Given the description of an element on the screen output the (x, y) to click on. 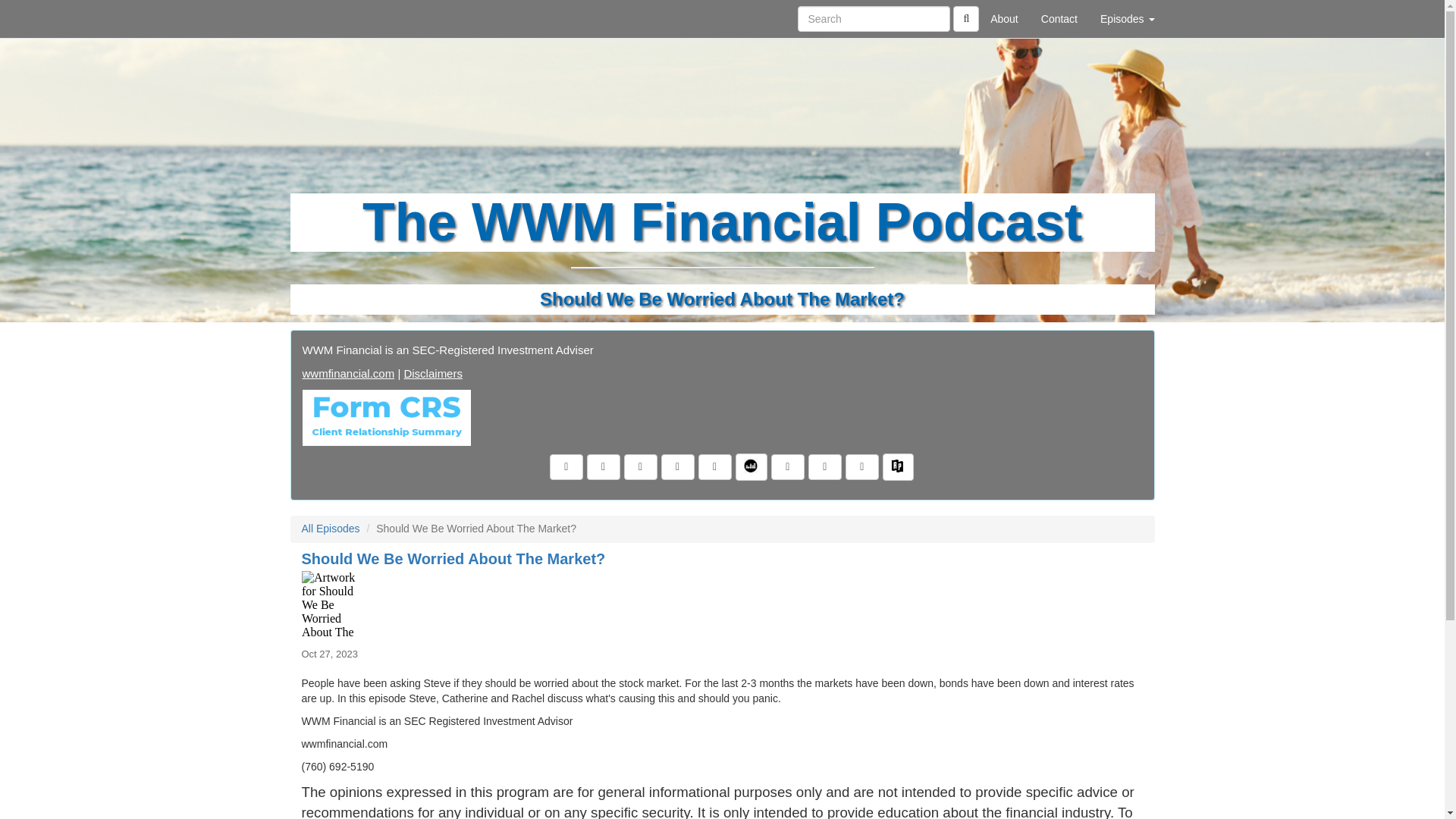
Episodes (1127, 18)
About (1003, 18)
Should We Be Worried About The Market? (721, 604)
Website (347, 373)
Home Page (320, 18)
Disclaimer Page (433, 373)
Contact (1059, 18)
Form CRS (385, 416)
